Given the description of an element on the screen output the (x, y) to click on. 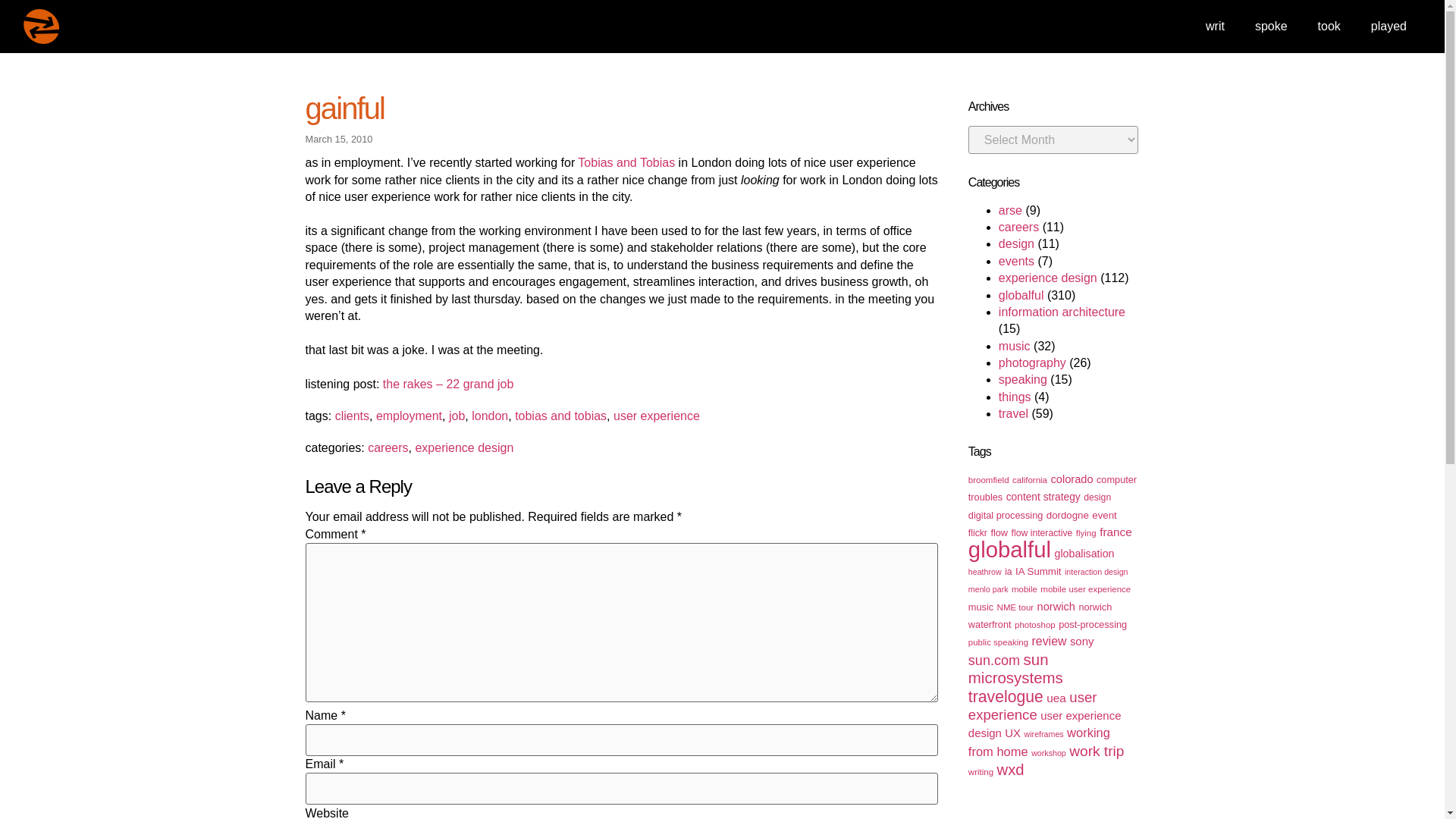
careers (1018, 226)
clients (351, 415)
careers (387, 447)
broomfield (988, 479)
information architecture (1061, 311)
took (1329, 26)
california (1028, 479)
experience design (463, 447)
speaking (1022, 379)
london (489, 415)
